Given the description of an element on the screen output the (x, y) to click on. 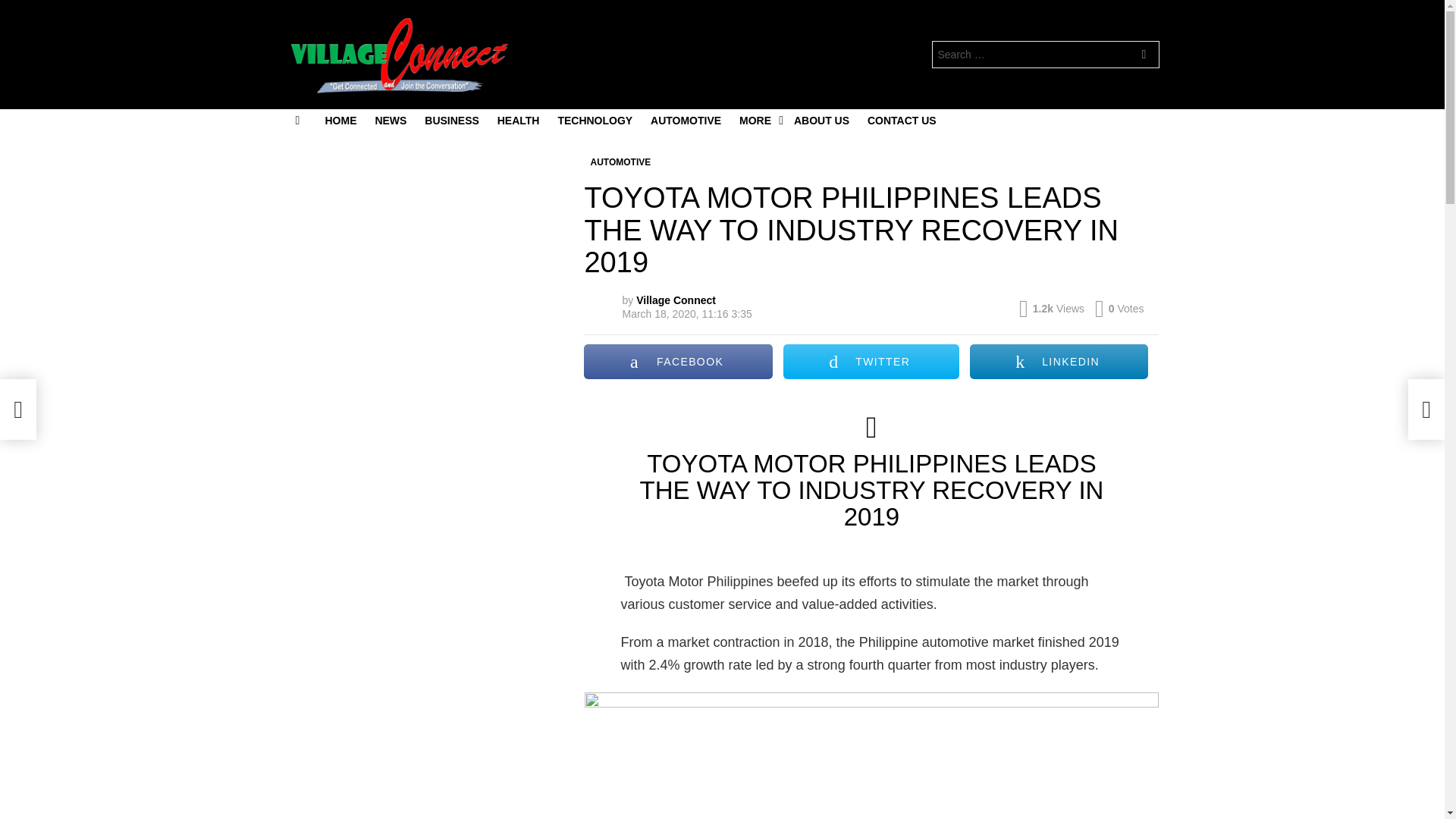
MORE (757, 119)
FACEBOOK (677, 361)
TECHNOLOGY (595, 119)
Share on Twitter (871, 361)
LINKEDIN (1058, 361)
AUTOMOTIVE (619, 161)
HOME (340, 119)
ABOUT US (821, 119)
HEALTH (518, 119)
BUSINESS (451, 119)
